Given the description of an element on the screen output the (x, y) to click on. 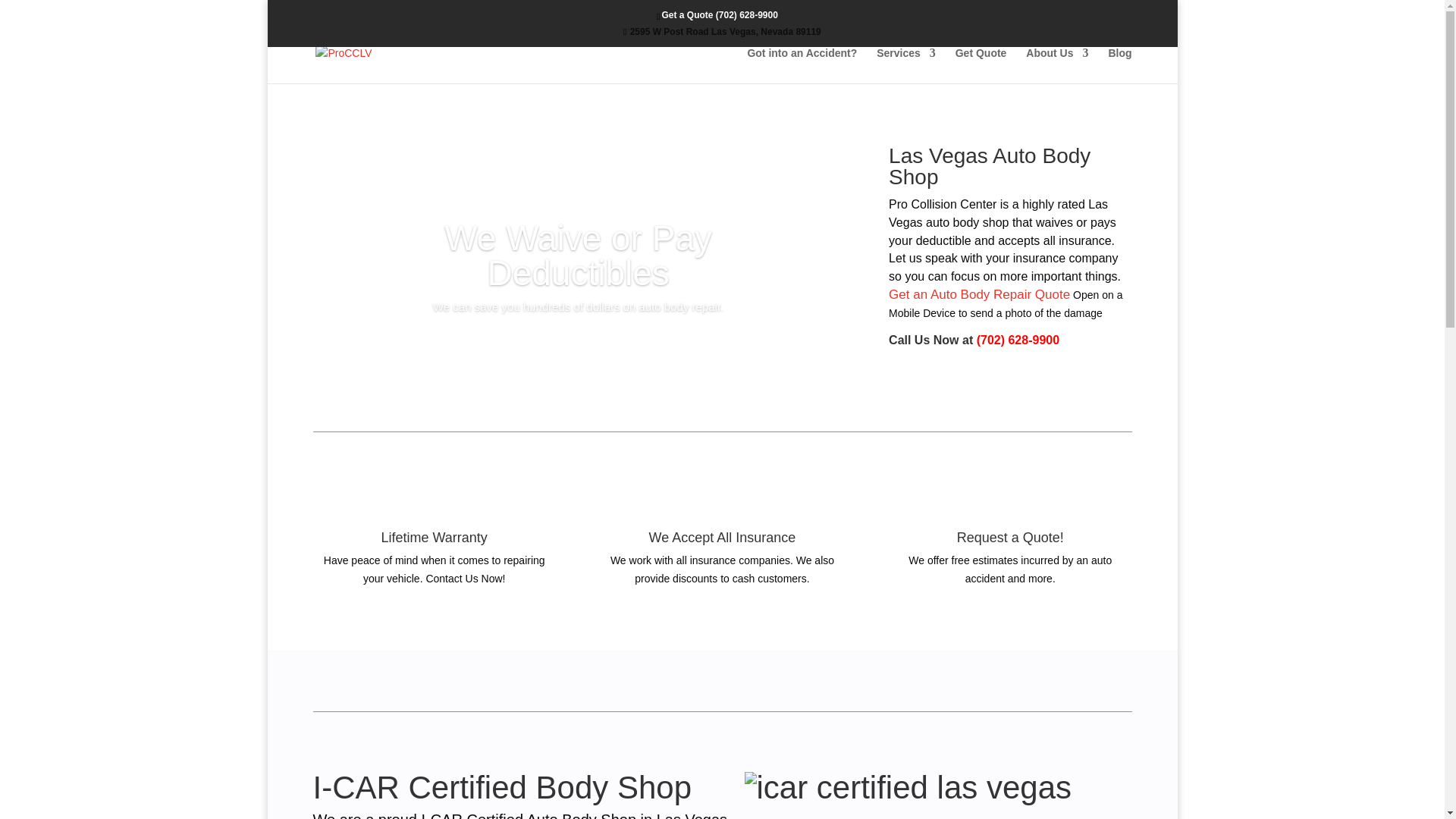
Got into an Accident? (801, 65)
Lifetime Warranty (433, 537)
About Us (1056, 65)
Blog (1119, 65)
Get Quote (981, 65)
2595 W Post Road Las Vegas, Nevada 89119 (722, 31)
Services (906, 65)
Get an Auto Body Repair Quote (979, 295)
